Given the description of an element on the screen output the (x, y) to click on. 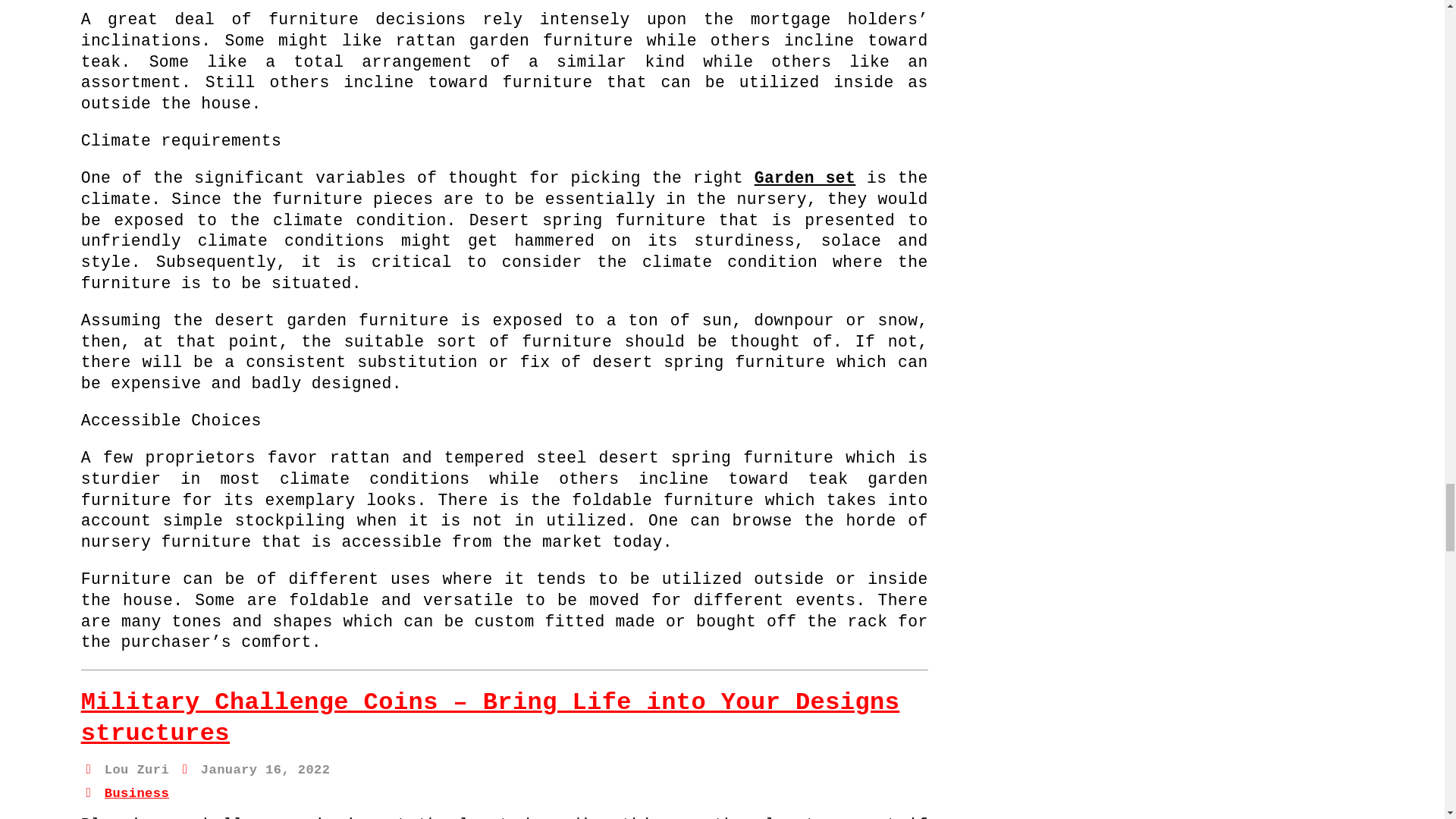
Garden set (805, 177)
View all in Business (136, 792)
Business (136, 792)
